Given the description of an element on the screen output the (x, y) to click on. 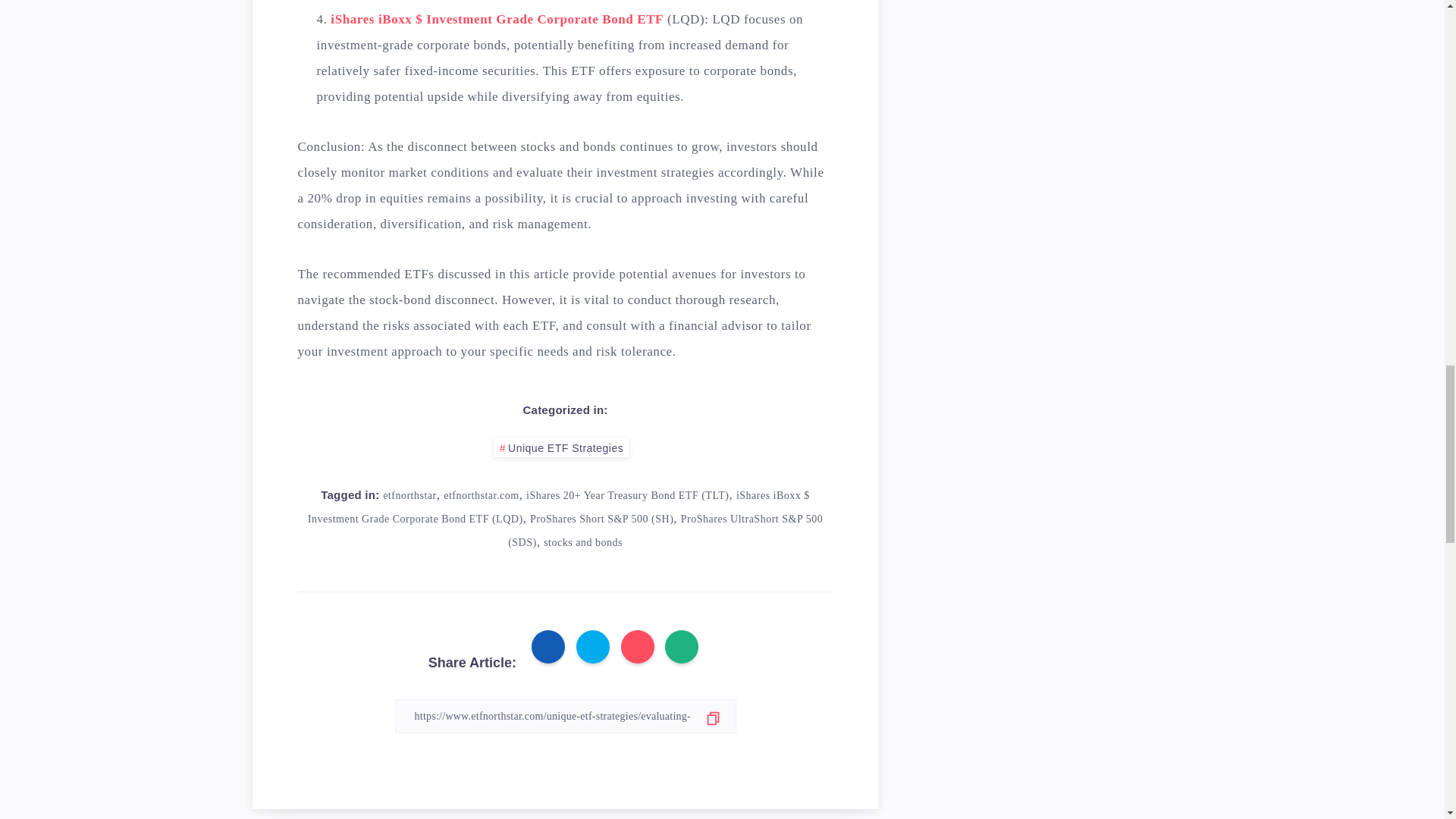
stocks and bonds (583, 542)
Unique ETF Strategies (560, 447)
etfnorthstar (409, 495)
etfnorthstar.com (481, 495)
